Given the description of an element on the screen output the (x, y) to click on. 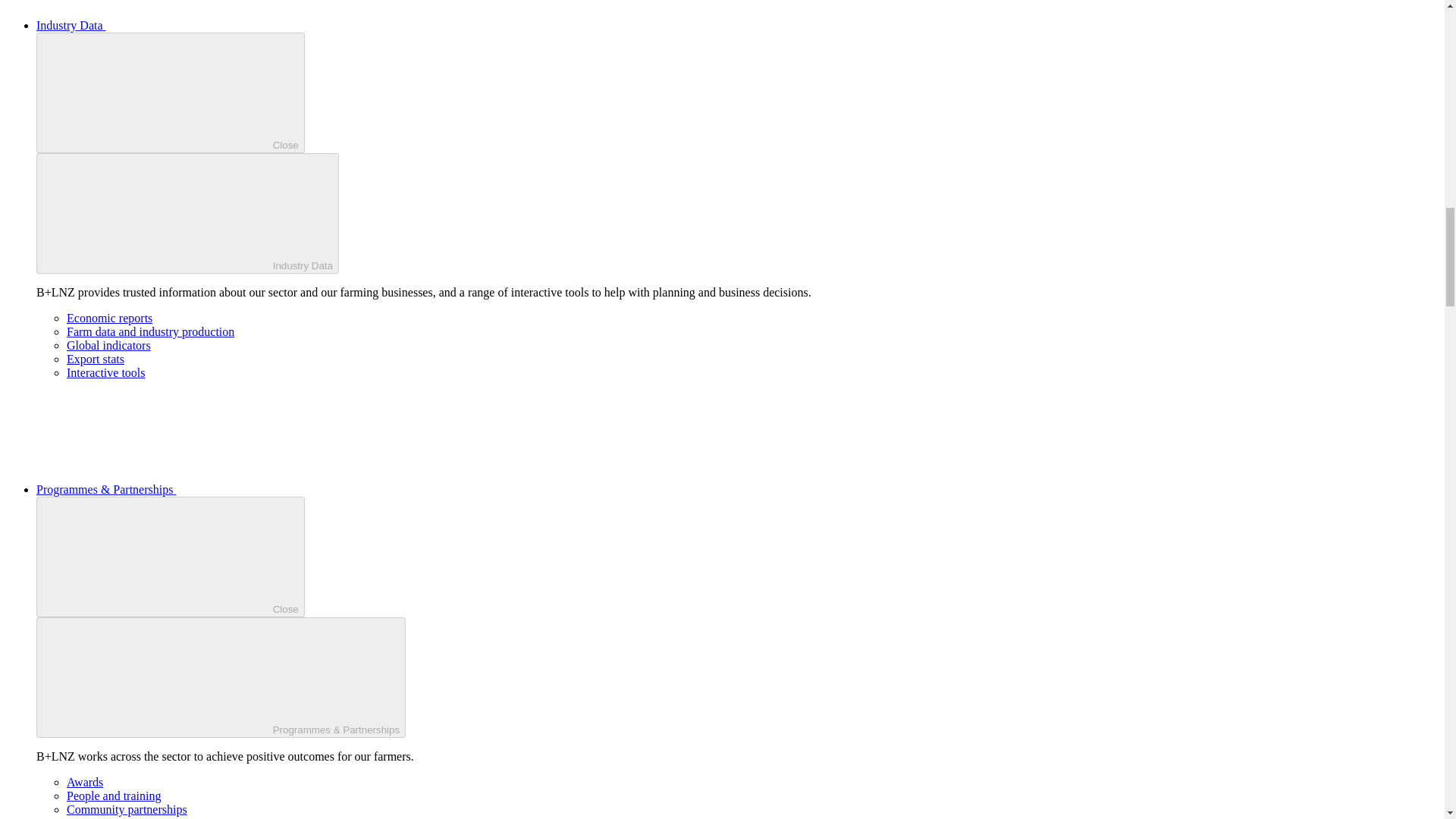
Community partnerships (126, 809)
Industry Data (184, 24)
Awards (84, 781)
Export stats (94, 358)
Close (170, 92)
Industry Data (187, 213)
